Given the description of an element on the screen output the (x, y) to click on. 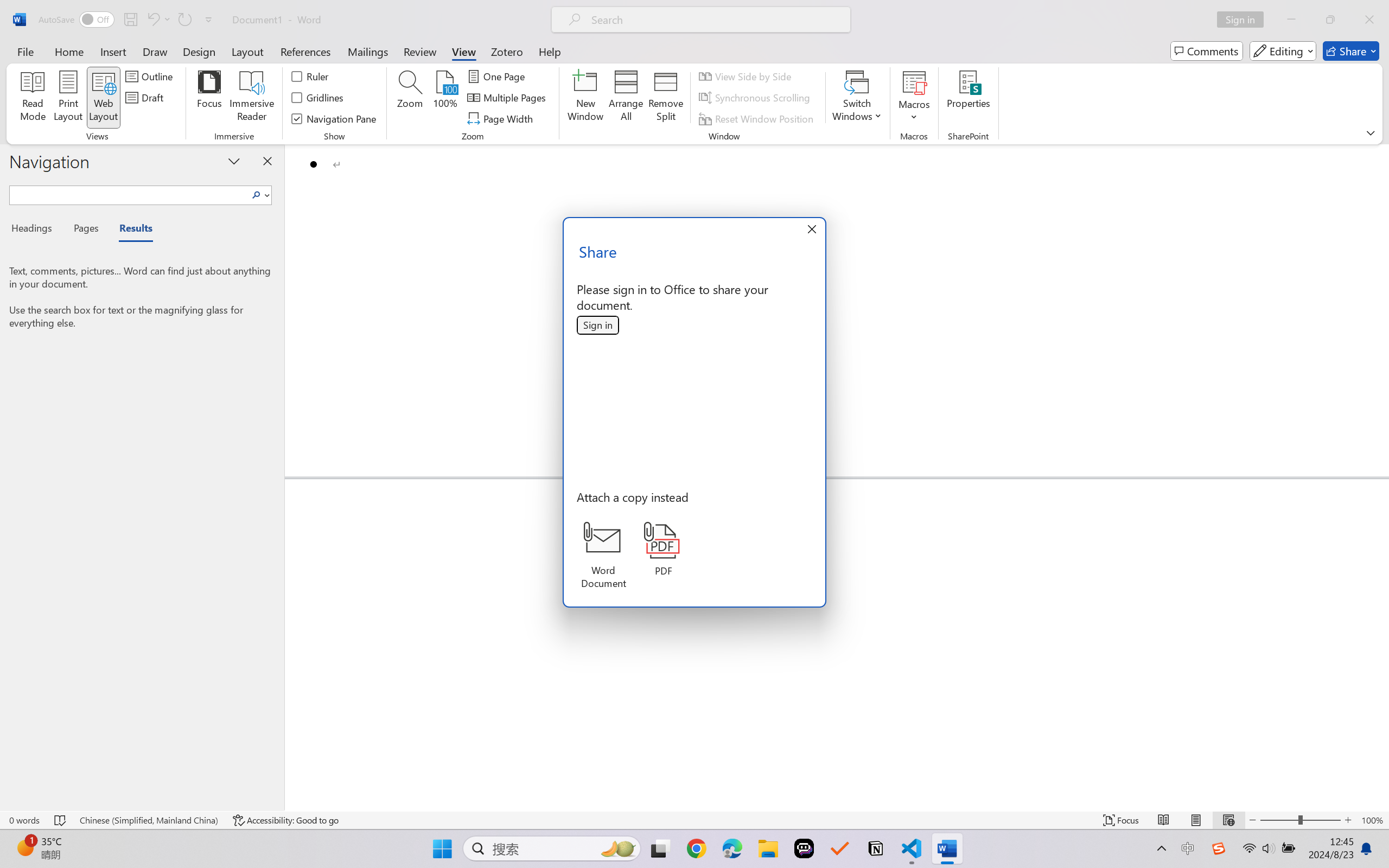
100% (445, 97)
Zoom 100% (1372, 819)
Properties (967, 97)
Immersive Reader (251, 97)
Macros (914, 97)
Arrange All (625, 97)
